Given the description of an element on the screen output the (x, y) to click on. 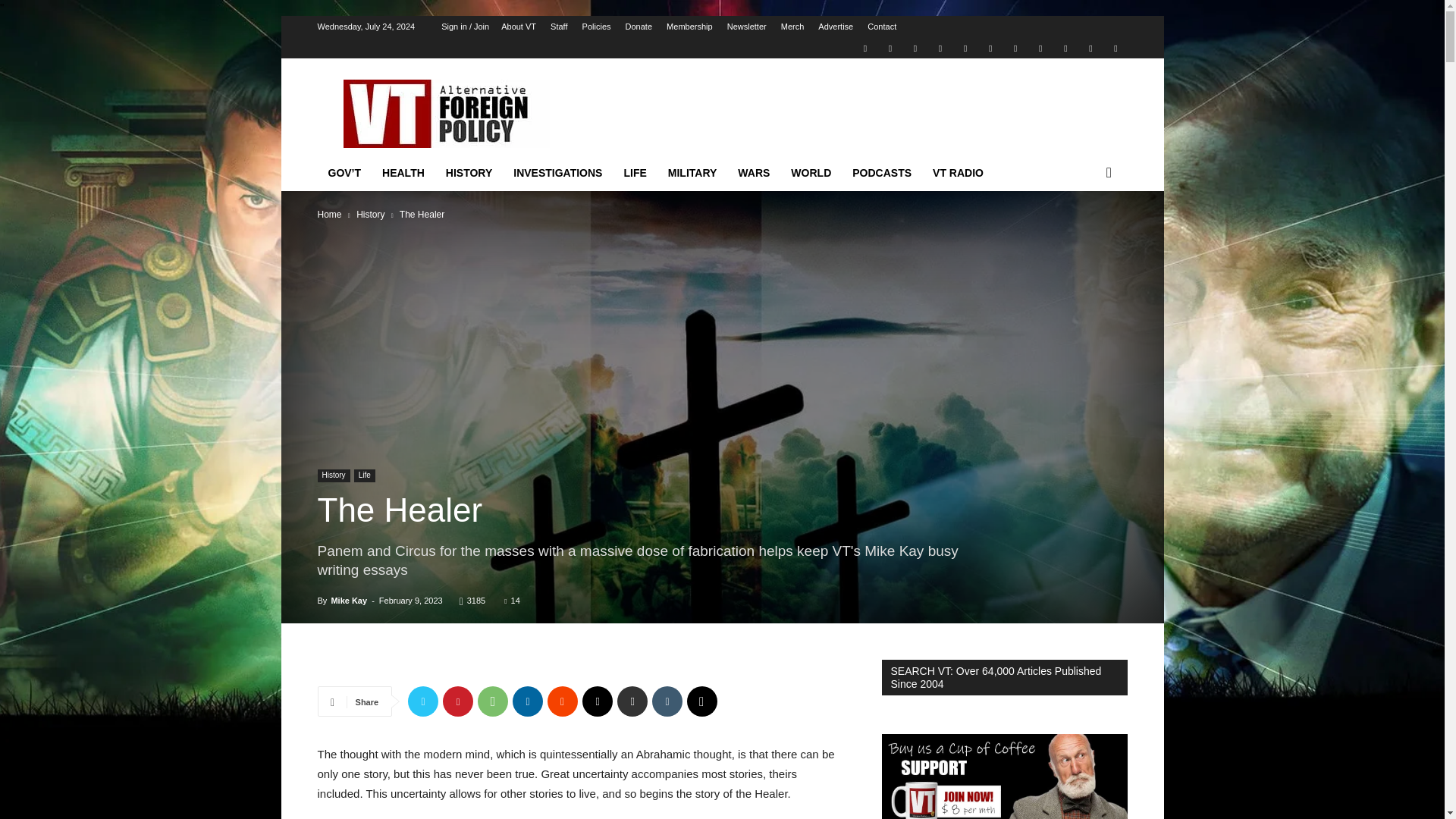
Contact (881, 26)
Donate (639, 26)
Newsletter (746, 26)
Facebook (890, 47)
Policies (596, 26)
Rumble (964, 47)
Mail (915, 47)
Reddit (940, 47)
Blogger (864, 47)
Merch (792, 26)
About VT (517, 26)
Membership (689, 26)
Advertise (835, 26)
Staff (558, 26)
